Given the description of an element on the screen output the (x, y) to click on. 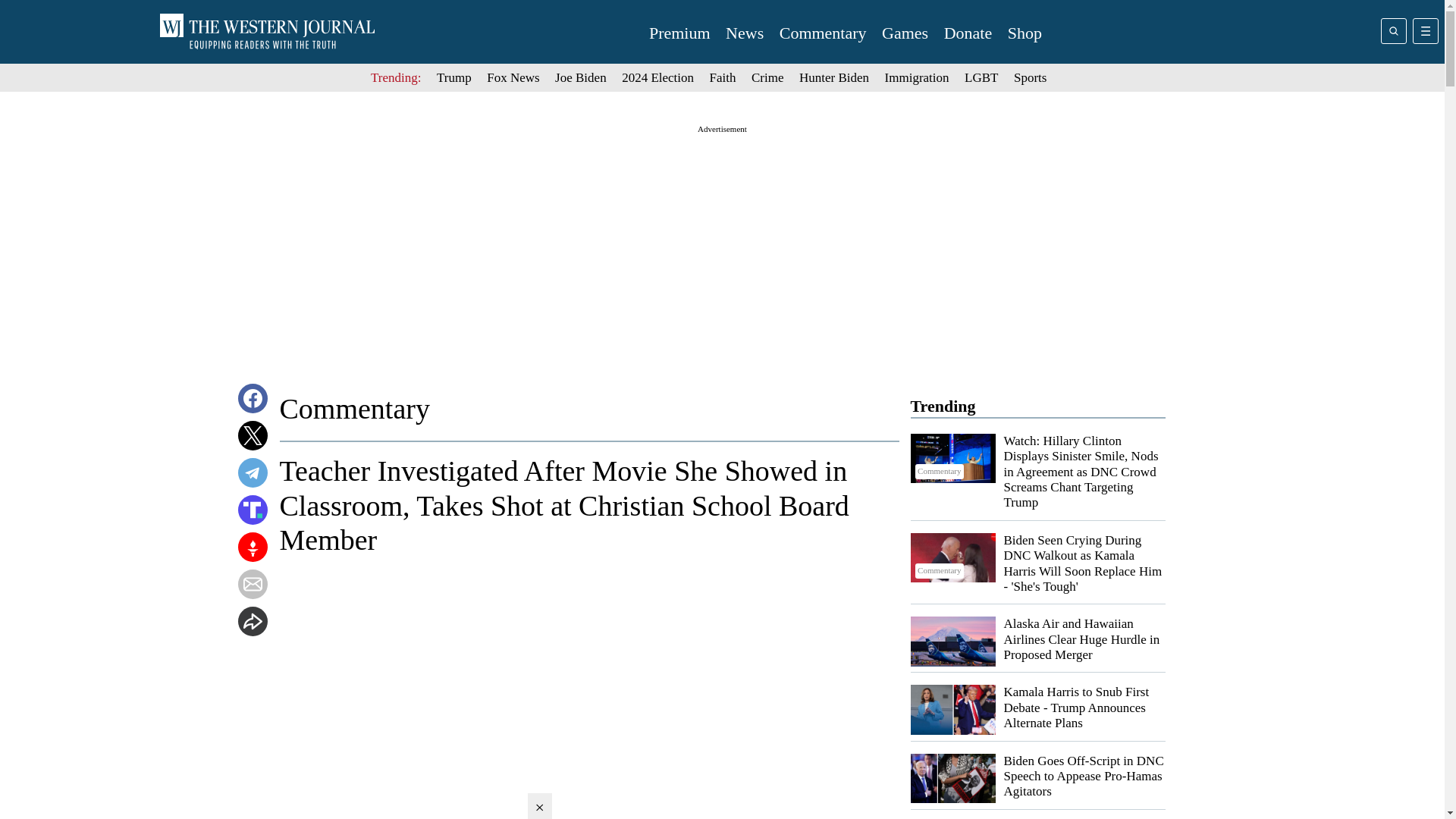
Sports (1029, 77)
Crime (767, 77)
LGBT (980, 77)
Shop (1024, 32)
Fox News (512, 77)
Immigration (917, 77)
Games (905, 32)
Trump (453, 77)
2024 Election (657, 77)
